Given the description of an element on the screen output the (x, y) to click on. 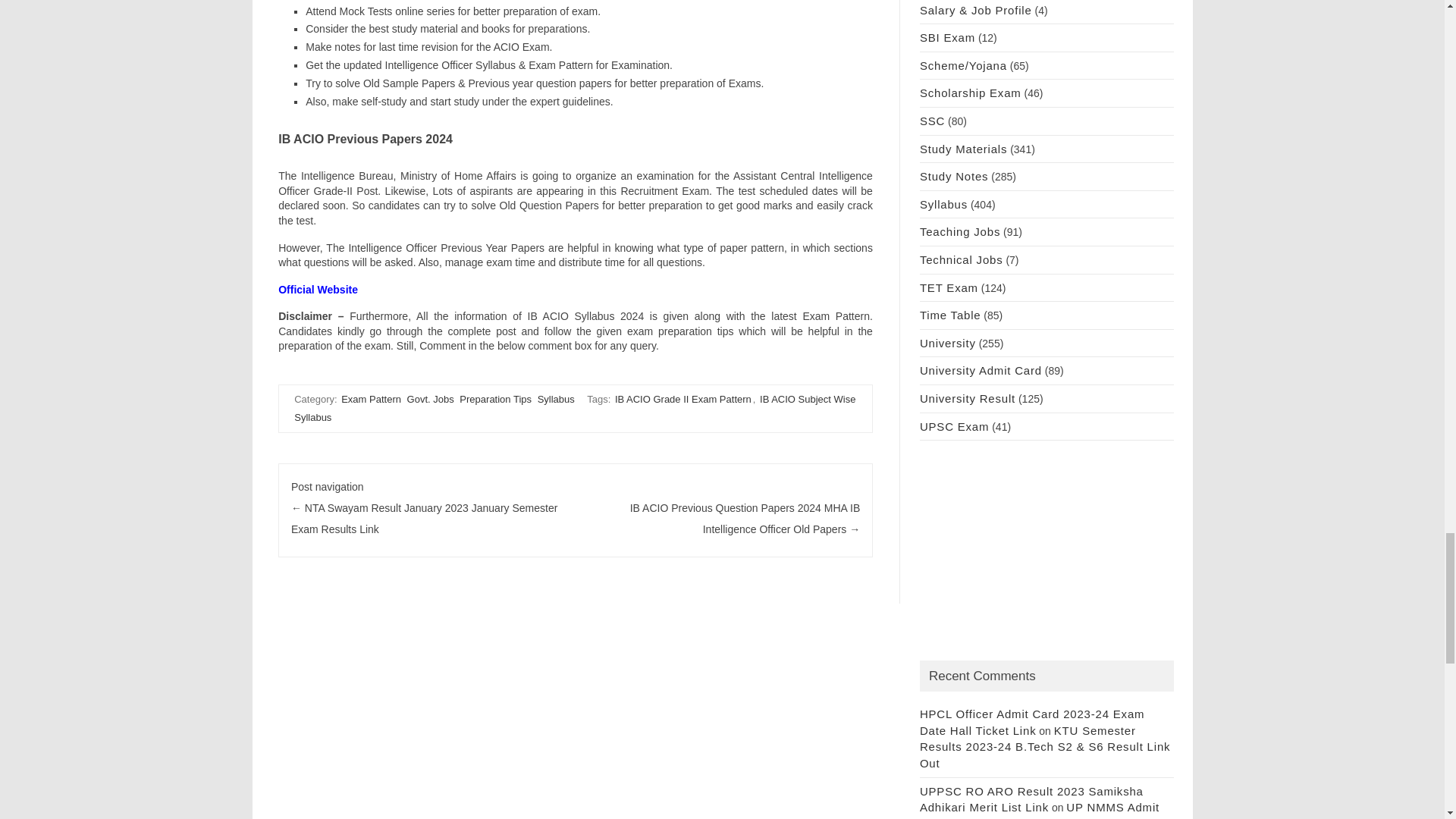
IB ACIO Subject Wise Syllabus (575, 408)
Govt. Jobs (430, 399)
Syllabus (555, 399)
Preparation Tips (495, 399)
IB ACIO Grade II Exam Pattern (682, 399)
Official Website (318, 289)
Exam Pattern (371, 399)
